Given the description of an element on the screen output the (x, y) to click on. 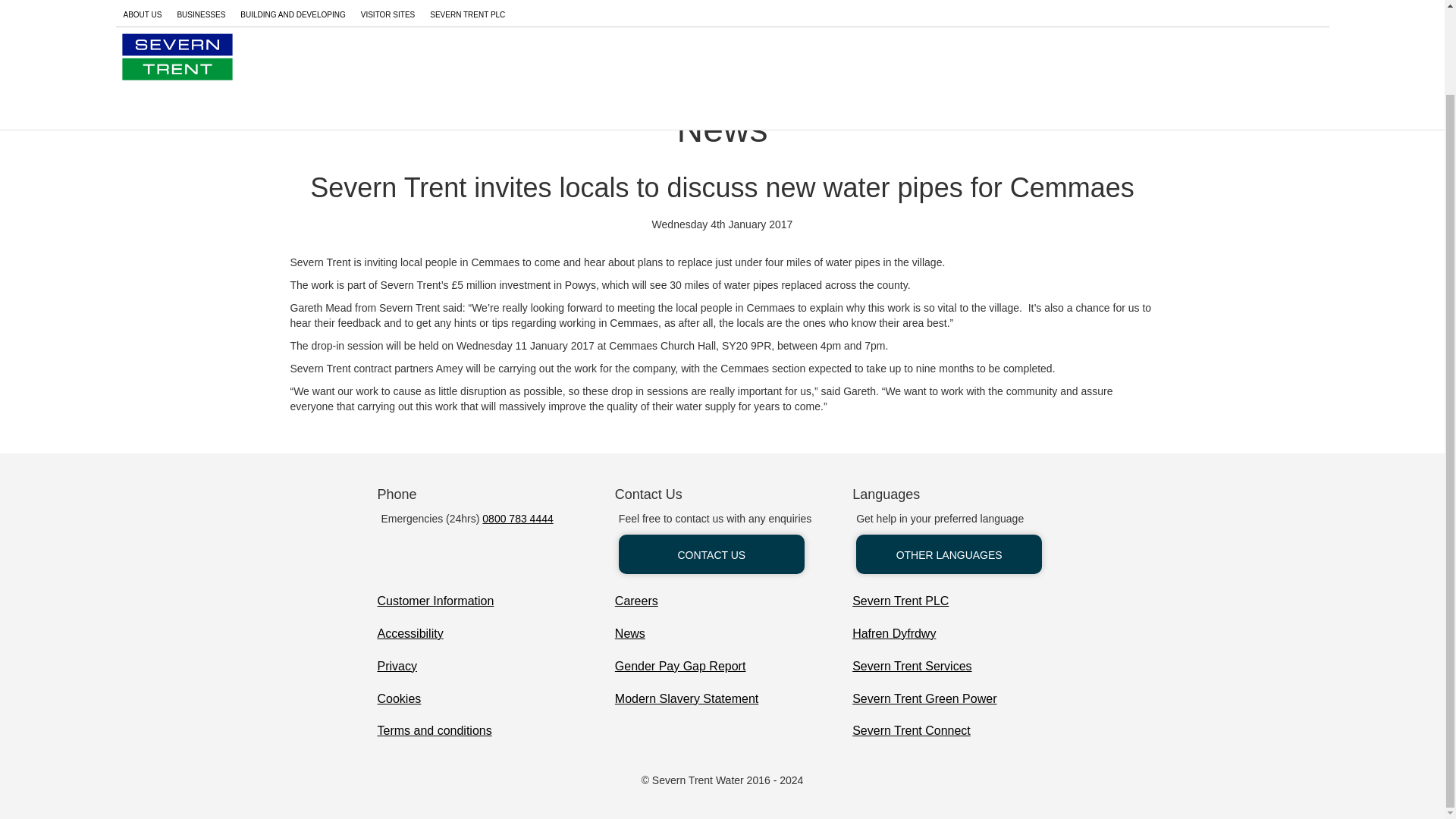
Modern Slavery Statement (686, 699)
News Releases (289, 54)
OTHER LANGUAGES (949, 554)
Accessibility (410, 633)
0800 783 4444 (517, 518)
Gender Pay Gap Report (679, 666)
Severn Trent PLC (900, 601)
Cookies (399, 699)
Careers (636, 601)
News (629, 633)
Customer Information (436, 601)
Hafren Dyfrdwy (893, 633)
Severn Trent Water (182, 54)
CONTACT US (711, 554)
Privacy (396, 666)
